Given the description of an element on the screen output the (x, y) to click on. 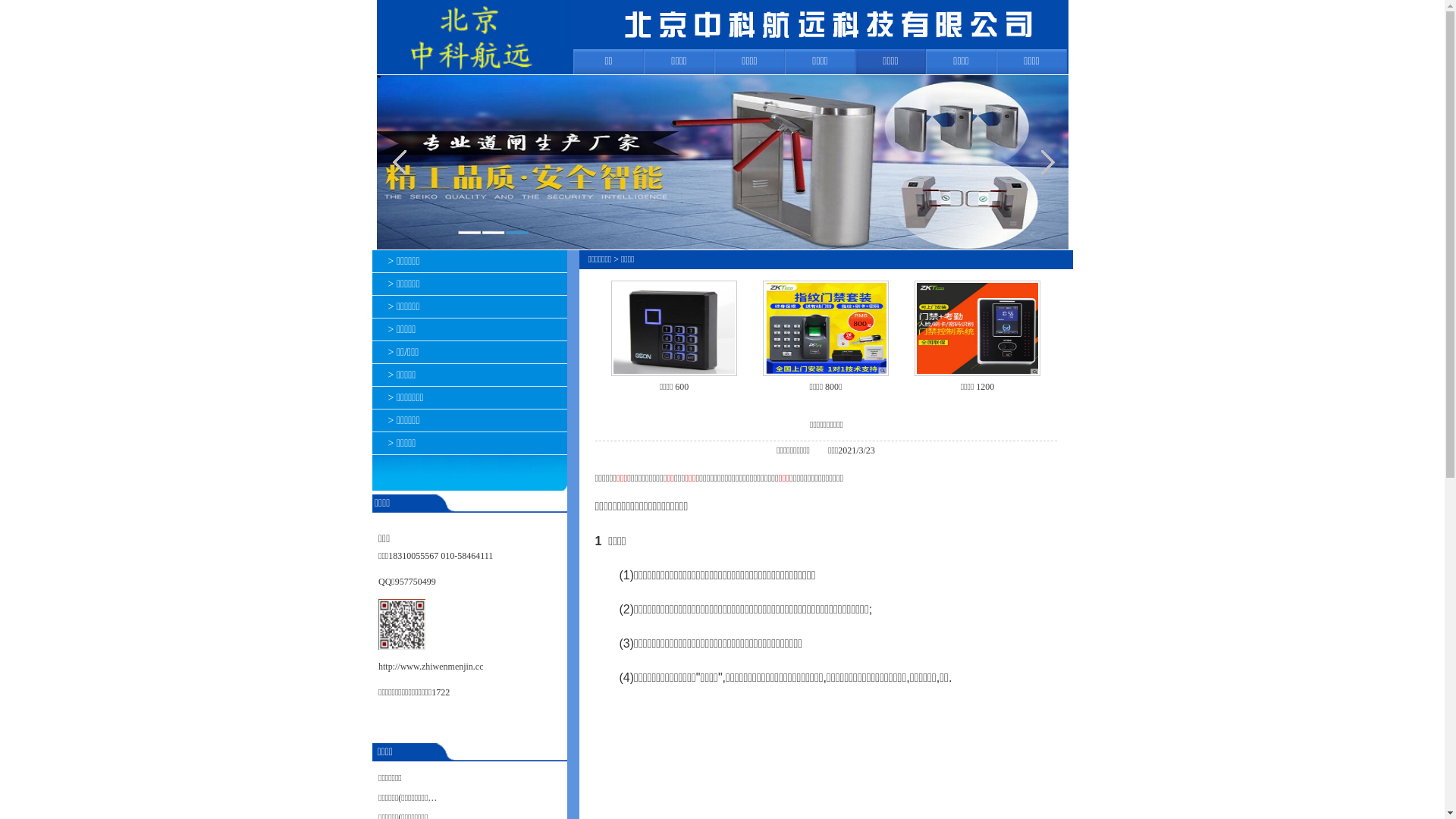
http://www.zhiwenmenjin.cc Element type: text (430, 666)
